Given the description of an element on the screen output the (x, y) to click on. 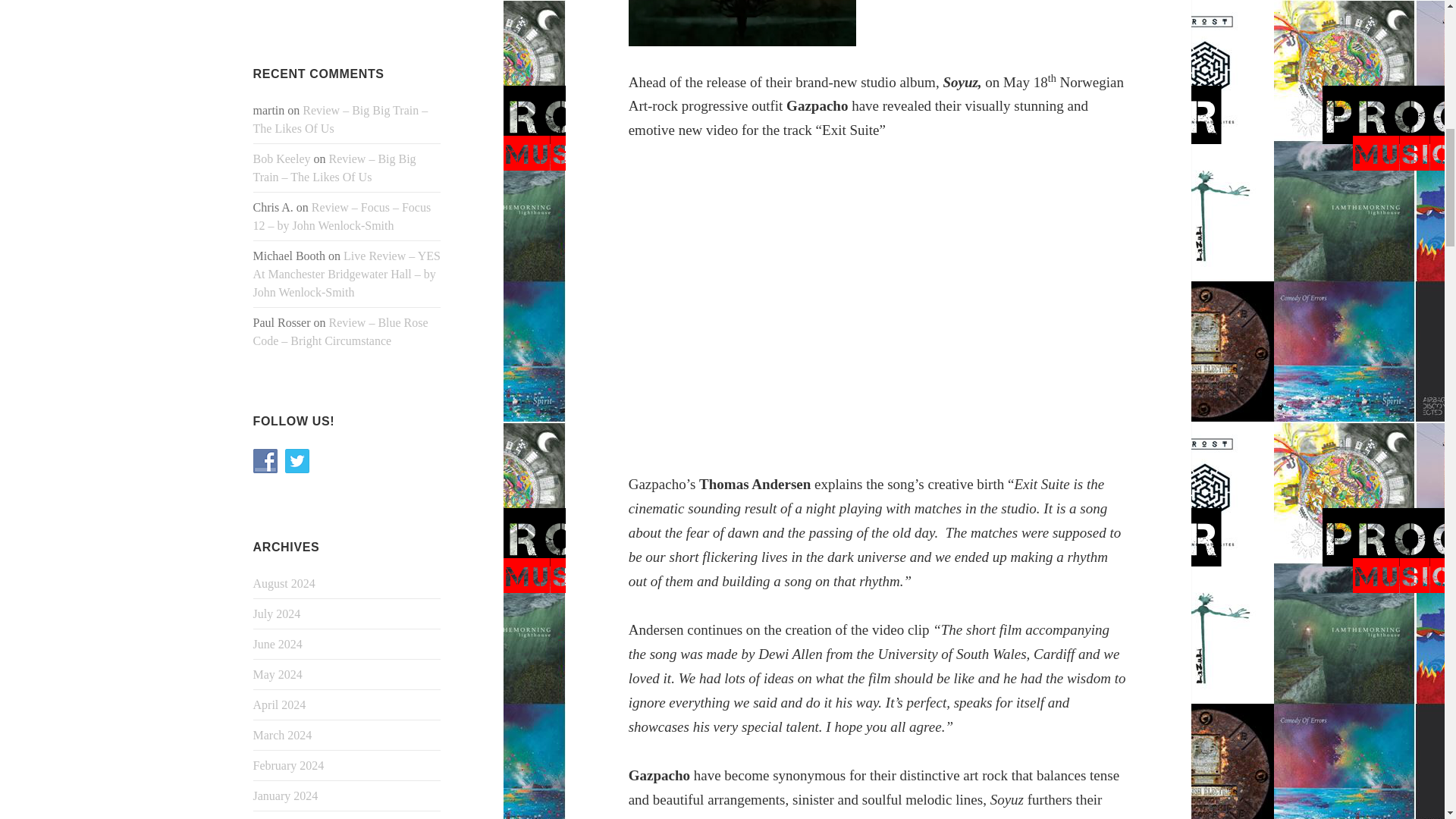
May 2024 (277, 674)
March 2024 (283, 735)
August 2024 (284, 583)
Facebook Progradar (265, 460)
Bob Keeley (282, 158)
April 2024 (279, 704)
January 2024 (285, 795)
June 2024 (277, 644)
February 2024 (288, 765)
July 2024 (277, 613)
